Given the description of an element on the screen output the (x, y) to click on. 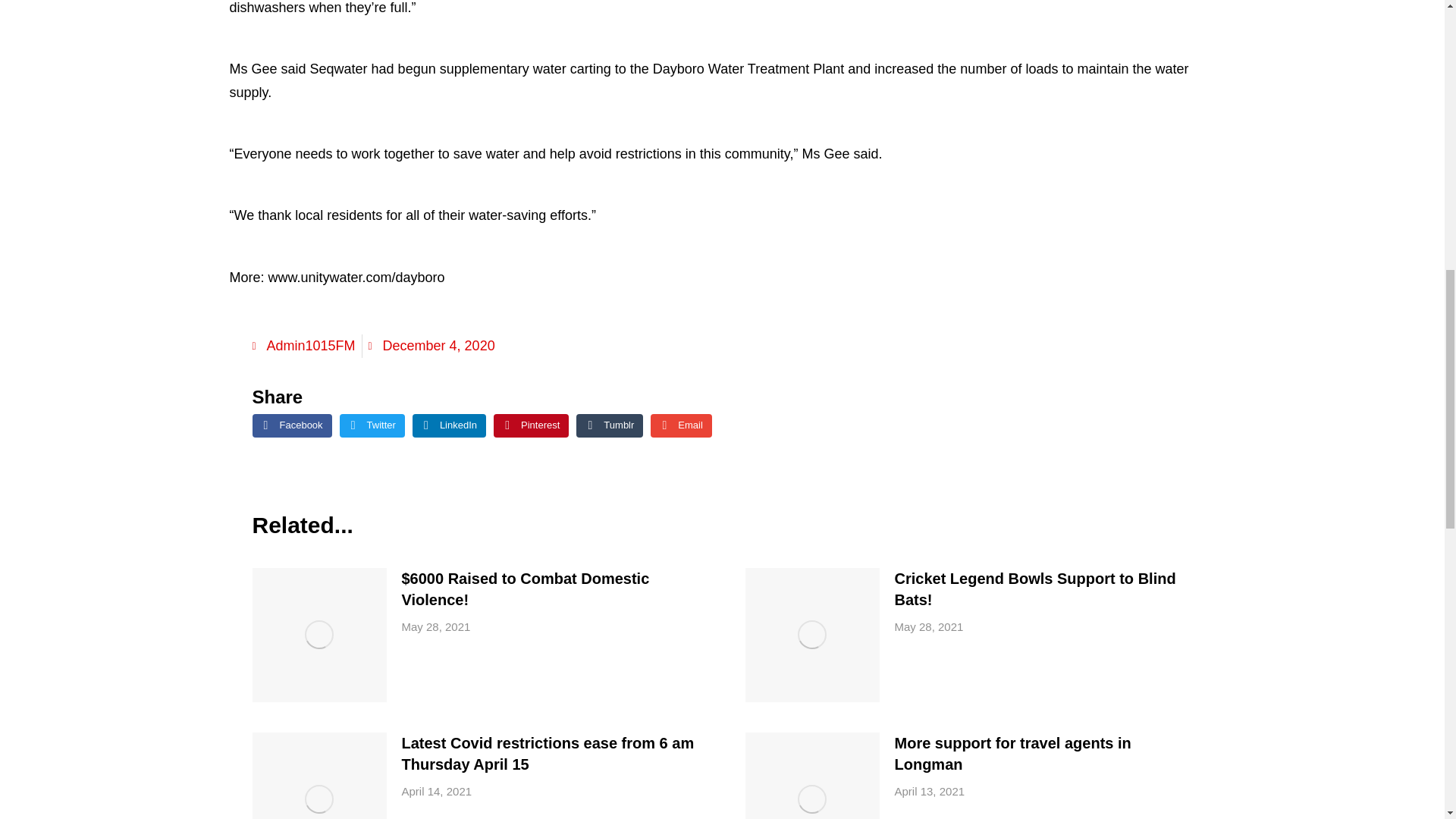
9:56 am (930, 791)
Cricket Legend Bowls Support to Blind Bats! (1043, 589)
11:56 am (929, 627)
More support for travel agents in Longman (1043, 753)
2:25 pm (436, 791)
Latest Covid restrictions ease from 6 am Thursday April 15 (550, 753)
Admin1015FM (303, 345)
April 13, 2021 (930, 791)
May 28, 2021 (435, 627)
More support for travel agents in Longman (1043, 753)
12:00 pm (435, 627)
Latest Covid restrictions ease from 6 am Thursday April 15 (550, 753)
December 4, 2020 (431, 345)
April 14, 2021 (436, 791)
Cricket Legend Bowls Support to Blind Bats! (1043, 589)
